Given the description of an element on the screen output the (x, y) to click on. 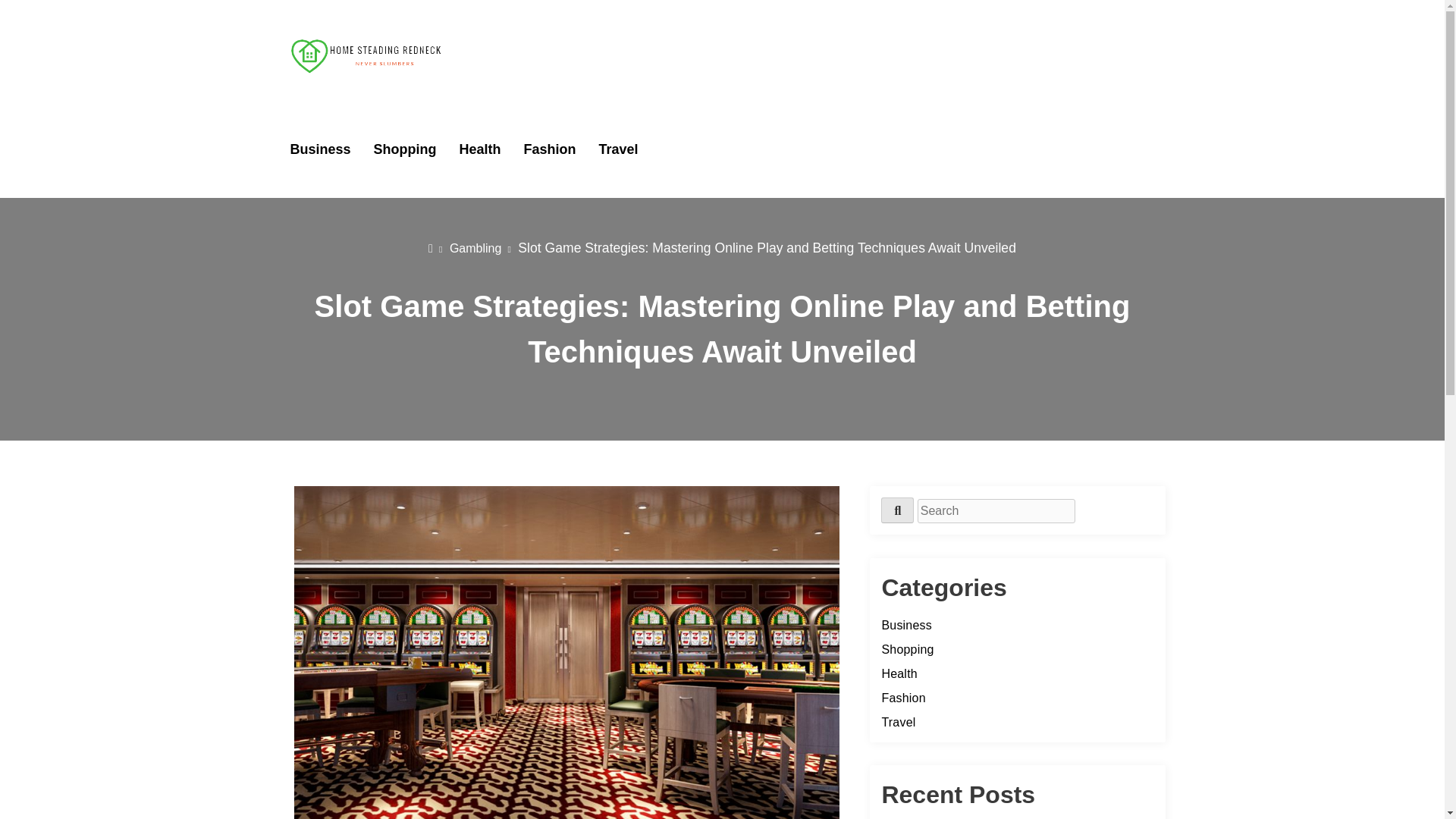
Gambling (480, 247)
Travel (618, 149)
Fashion (550, 149)
Business (905, 625)
Home Steading Redneck (511, 97)
Health (480, 149)
Travel (897, 721)
Shopping (405, 149)
Fashion (902, 697)
Health (898, 673)
Search (897, 510)
Business (319, 149)
Shopping (906, 649)
